Given the description of an element on the screen output the (x, y) to click on. 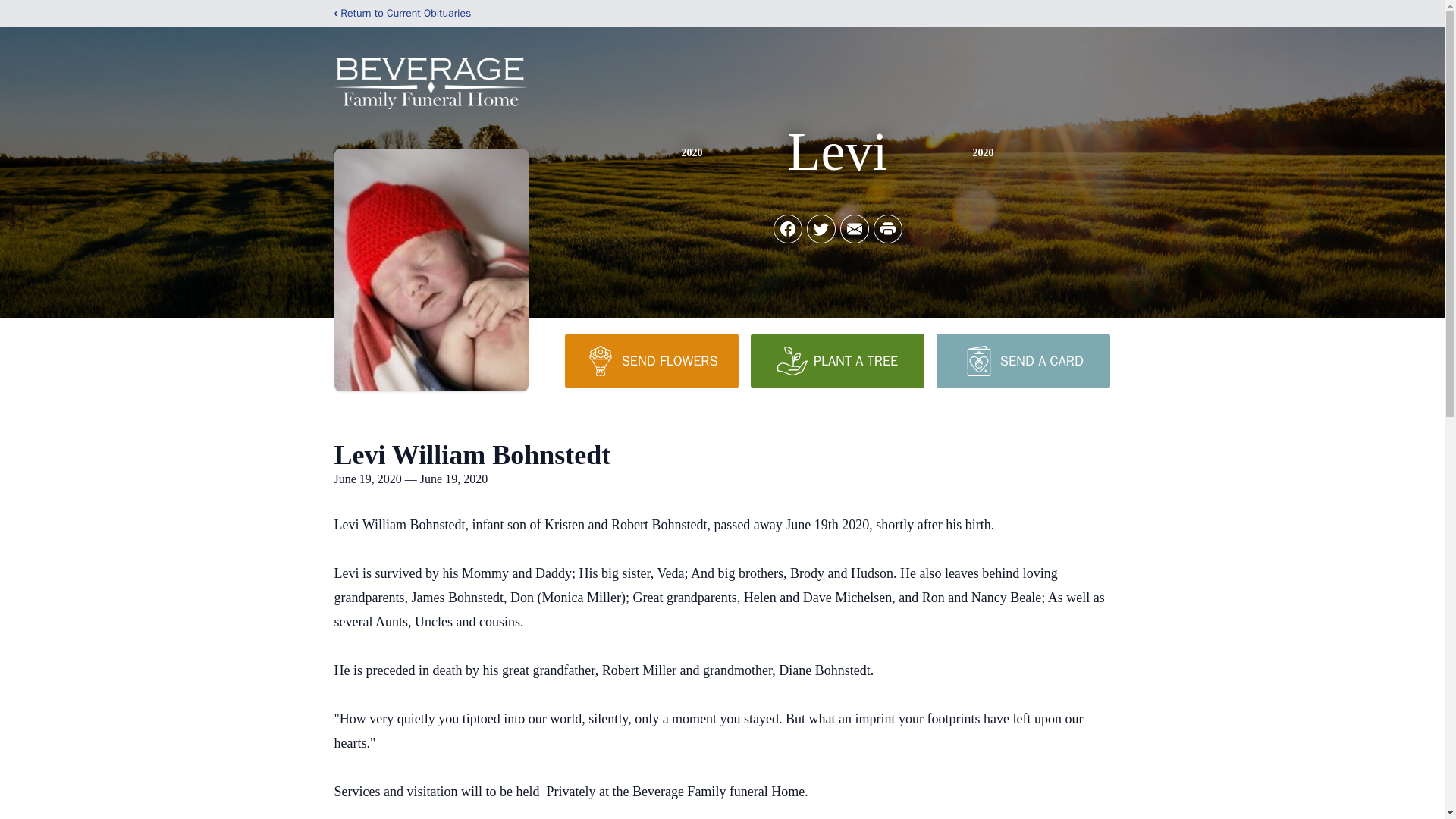
PLANT A TREE (837, 360)
SEND A CARD (1022, 360)
SEND FLOWERS (651, 360)
